Given the description of an element on the screen output the (x, y) to click on. 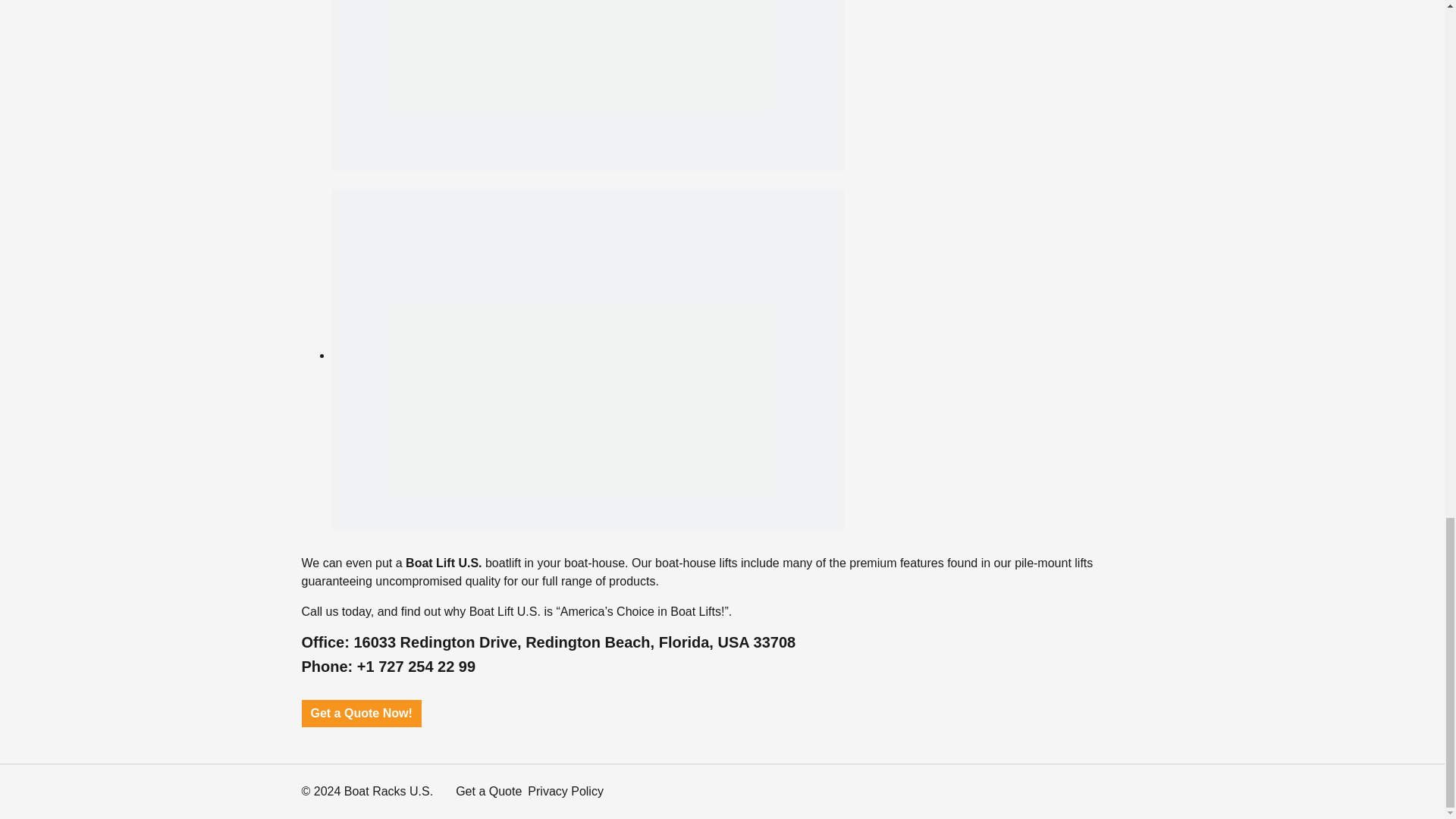
Privacy Policy (565, 790)
Get a Quote (488, 790)
Get a Quote Now! (361, 713)
